Given the description of an element on the screen output the (x, y) to click on. 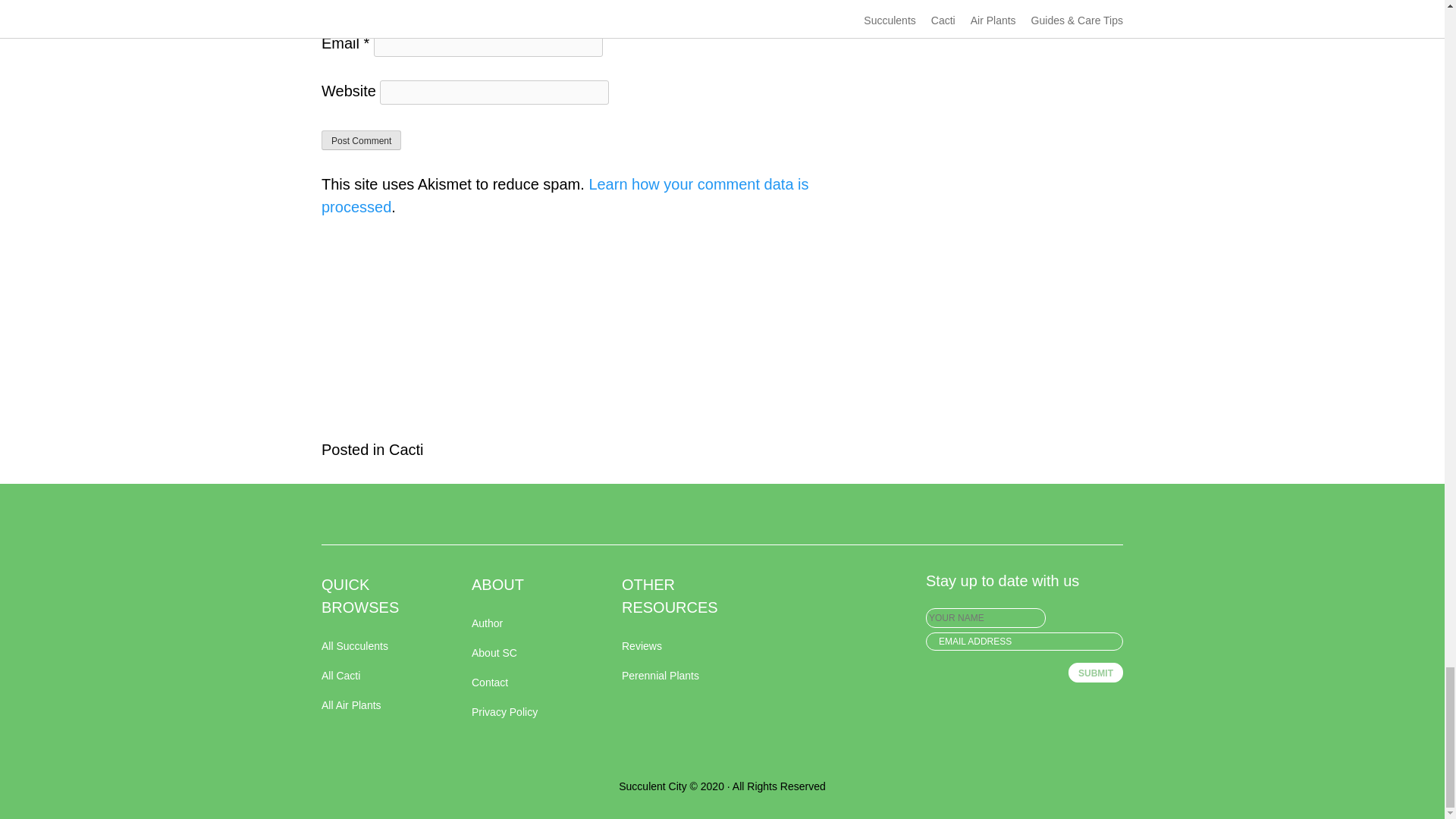
Post Comment (361, 139)
Post Comment (361, 139)
Submit (1095, 672)
All Succulents (378, 646)
Learn how your comment data is processed (565, 195)
QUICK BROWSES (378, 595)
